Given the description of an element on the screen output the (x, y) to click on. 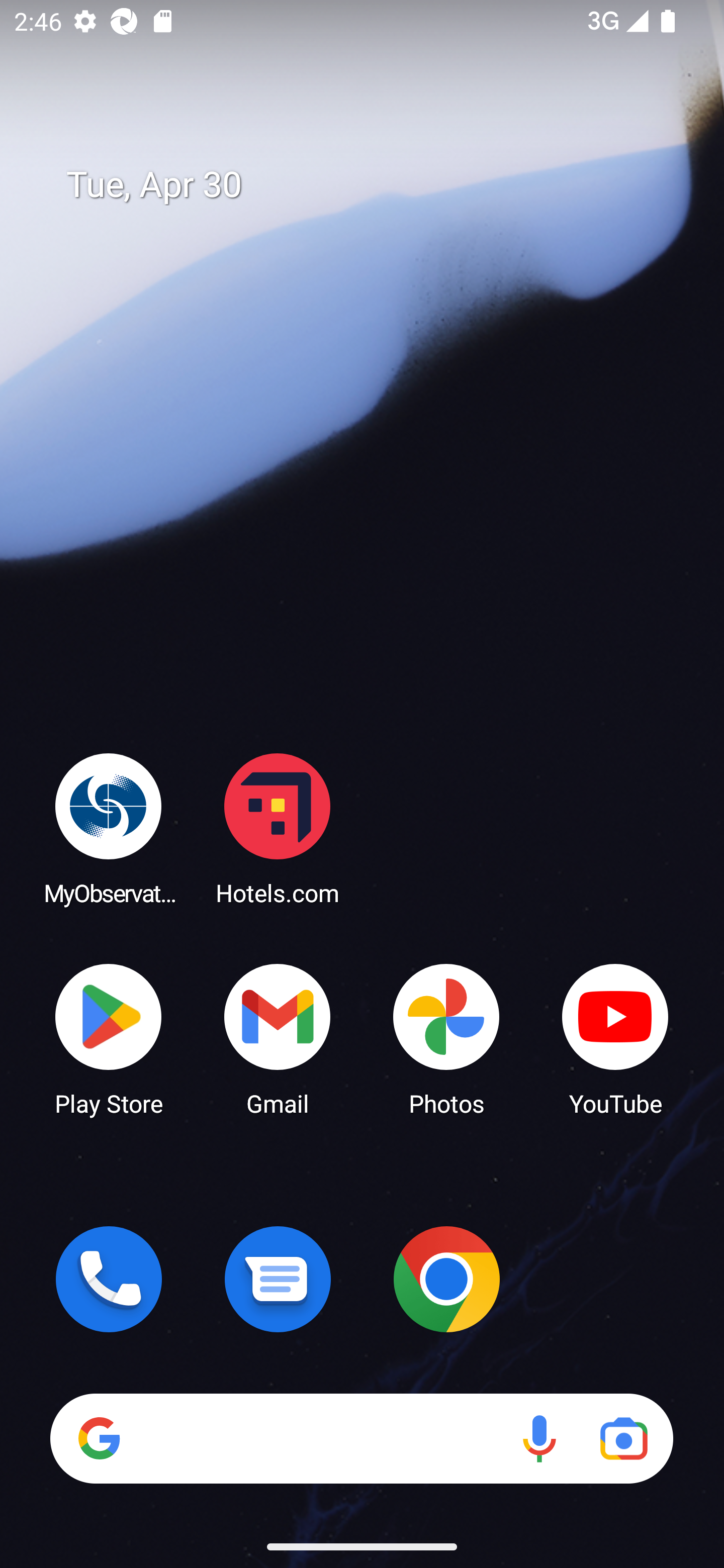
Tue, Apr 30 (375, 184)
MyObservatory (108, 828)
Hotels.com (277, 828)
Play Store (108, 1038)
Gmail (277, 1038)
Photos (445, 1038)
YouTube (615, 1038)
Phone (108, 1279)
Messages (277, 1279)
Chrome (446, 1279)
Search Voice search Google Lens (361, 1438)
Voice search (539, 1438)
Google Lens (623, 1438)
